Given the description of an element on the screen output the (x, y) to click on. 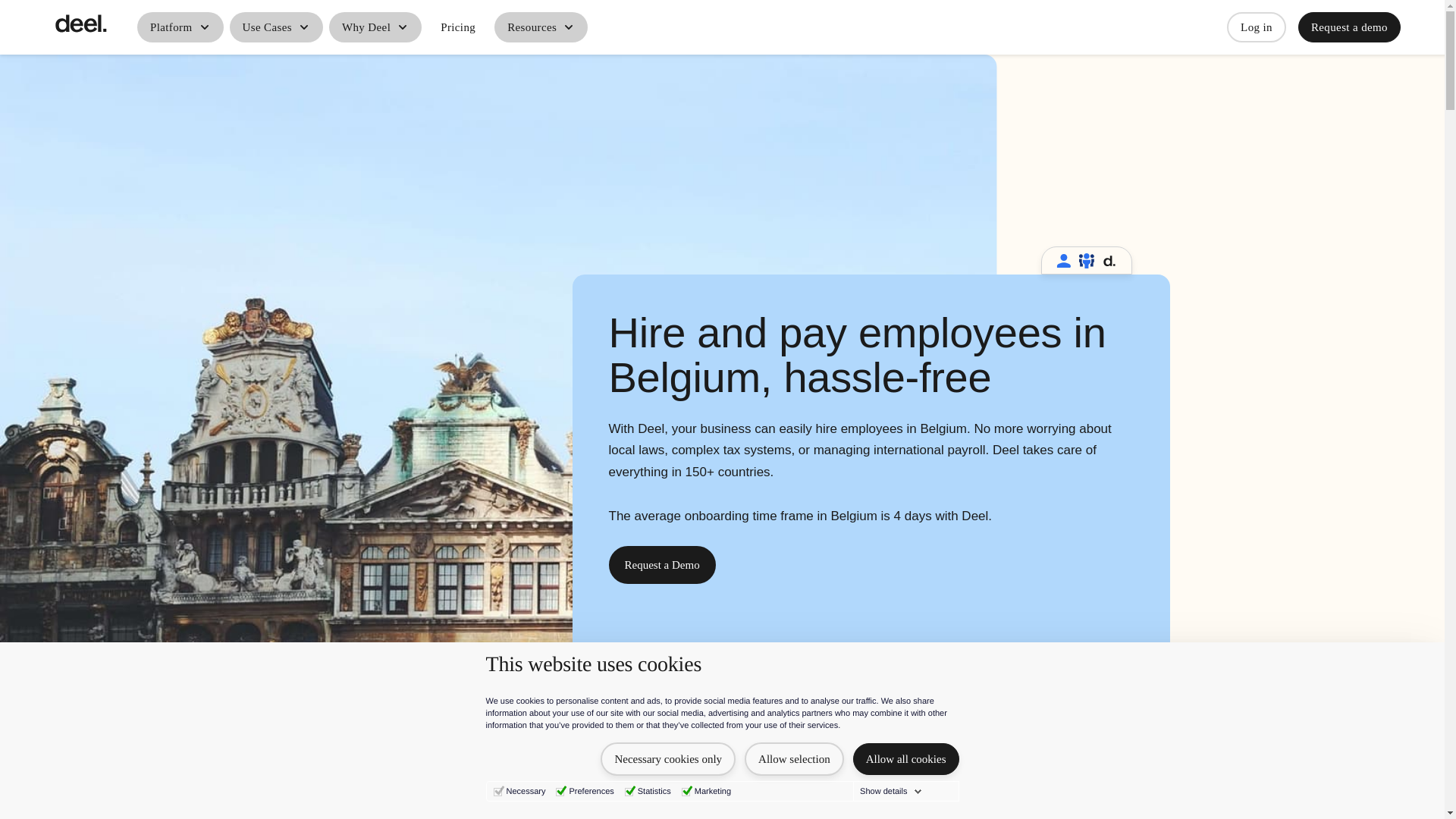
Necessary cookies only (667, 758)
Allow selection (794, 758)
Show details (890, 791)
Allow all cookies (906, 758)
